Given the description of an element on the screen output the (x, y) to click on. 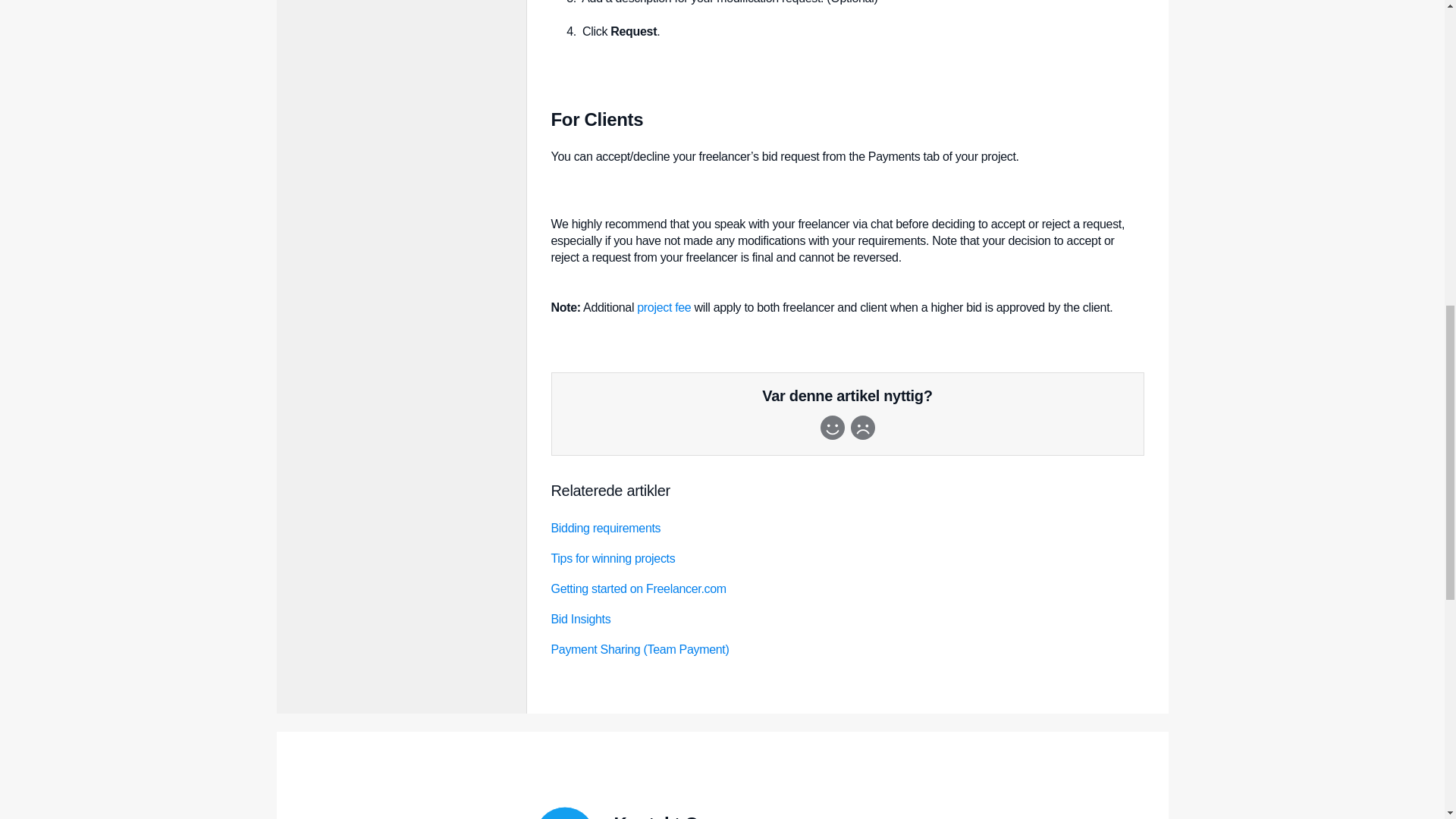
project fee (663, 307)
Getting started on Freelancer.com (637, 588)
Bid Insights (580, 618)
Bidding requirements (605, 527)
Tips for winning projects (612, 558)
